Given the description of an element on the screen output the (x, y) to click on. 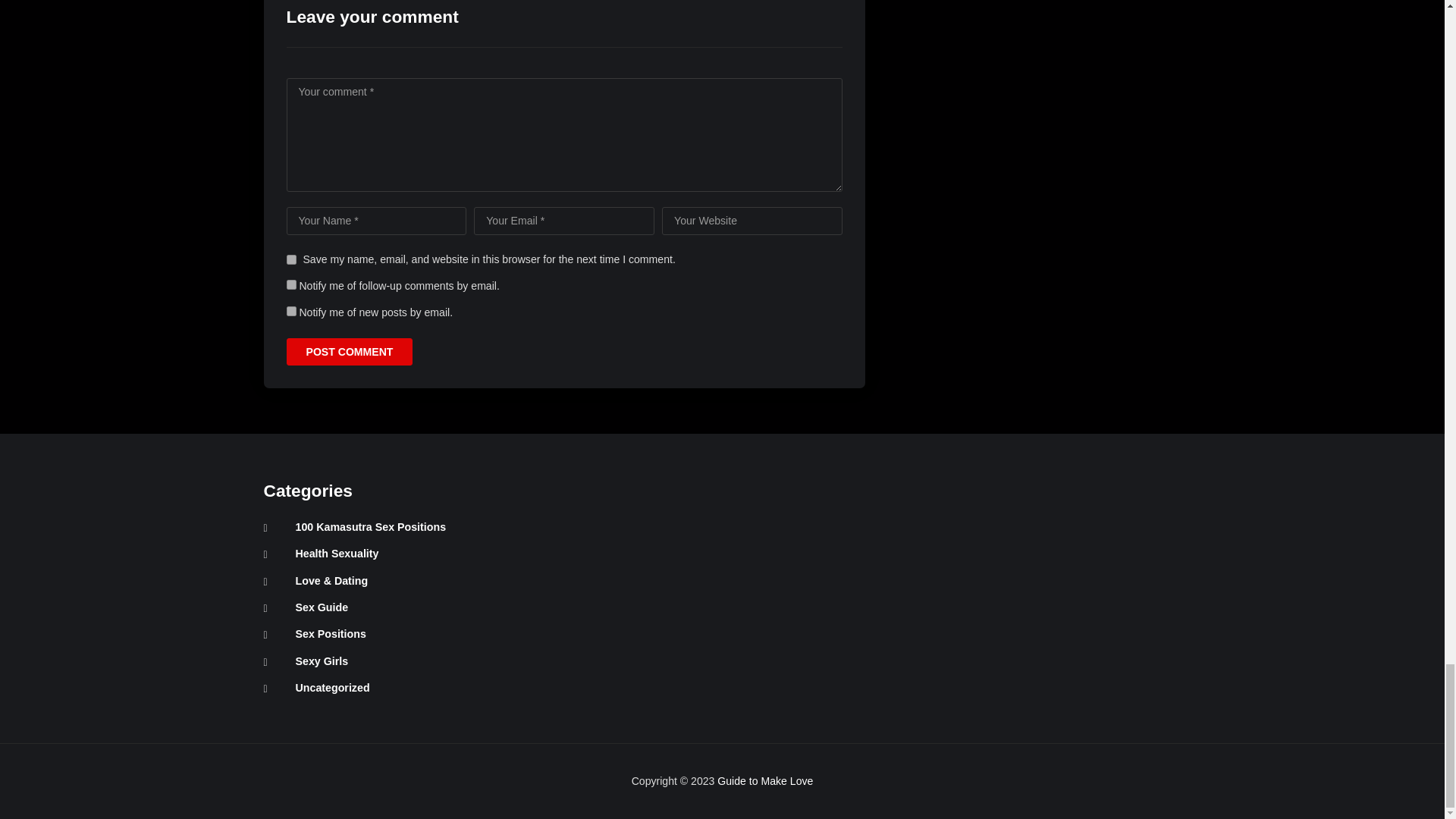
yes (291, 259)
Post comment (349, 351)
subscribe (291, 311)
subscribe (291, 284)
